Given the description of an element on the screen output the (x, y) to click on. 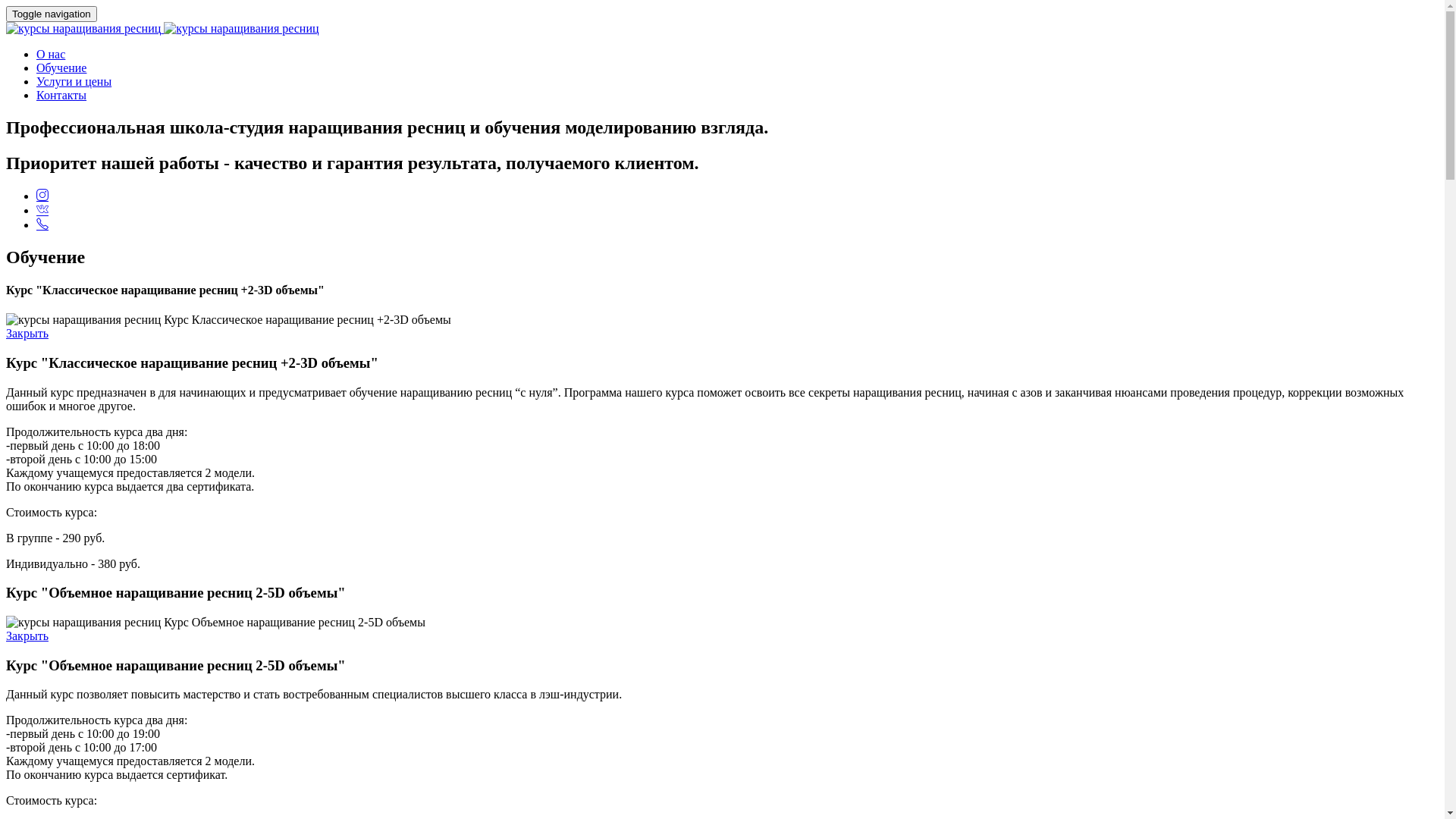
Toggle navigation Element type: text (51, 13)
